Given the description of an element on the screen output the (x, y) to click on. 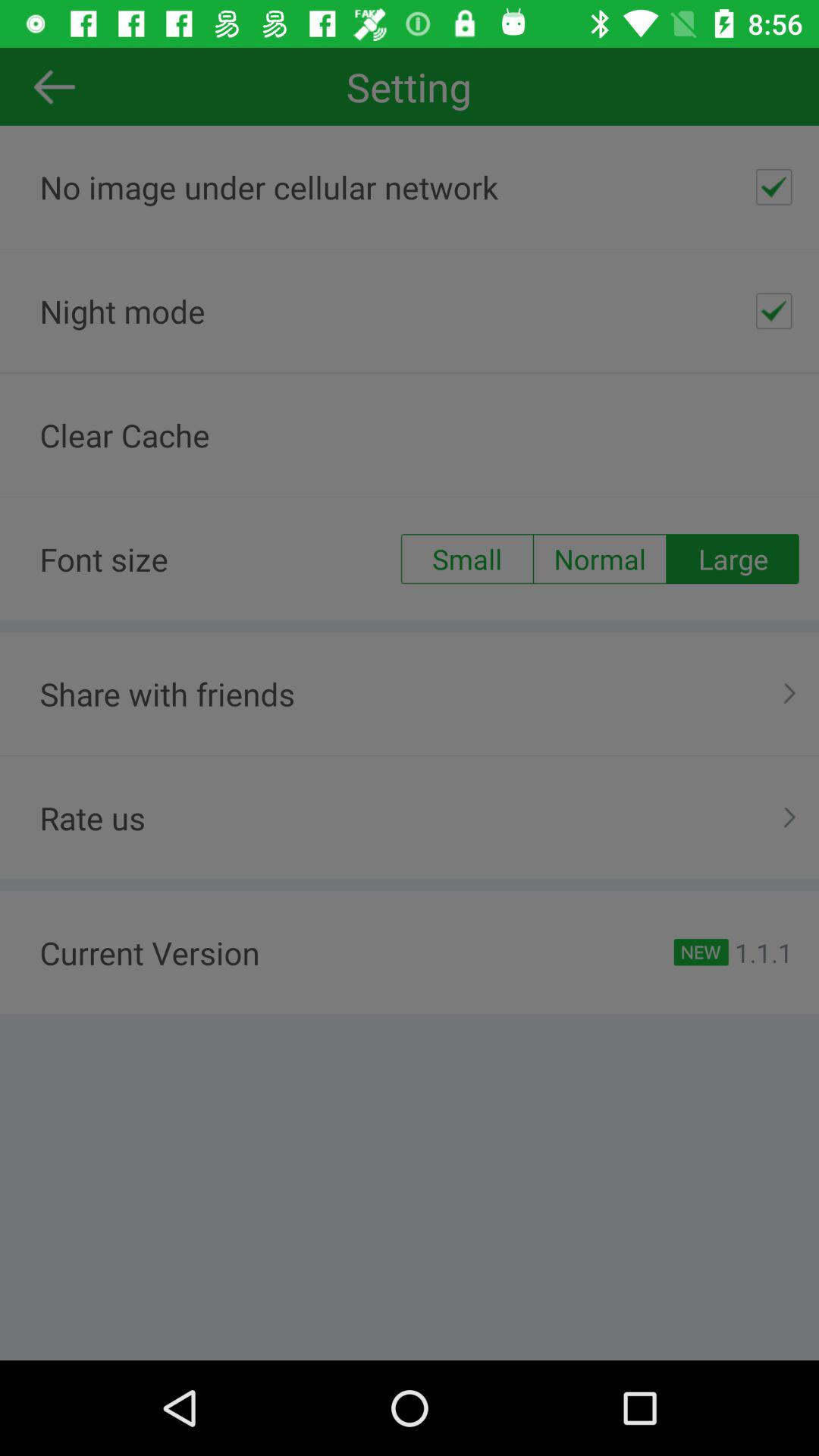
press item above the share with friends app (733, 559)
